Given the description of an element on the screen output the (x, y) to click on. 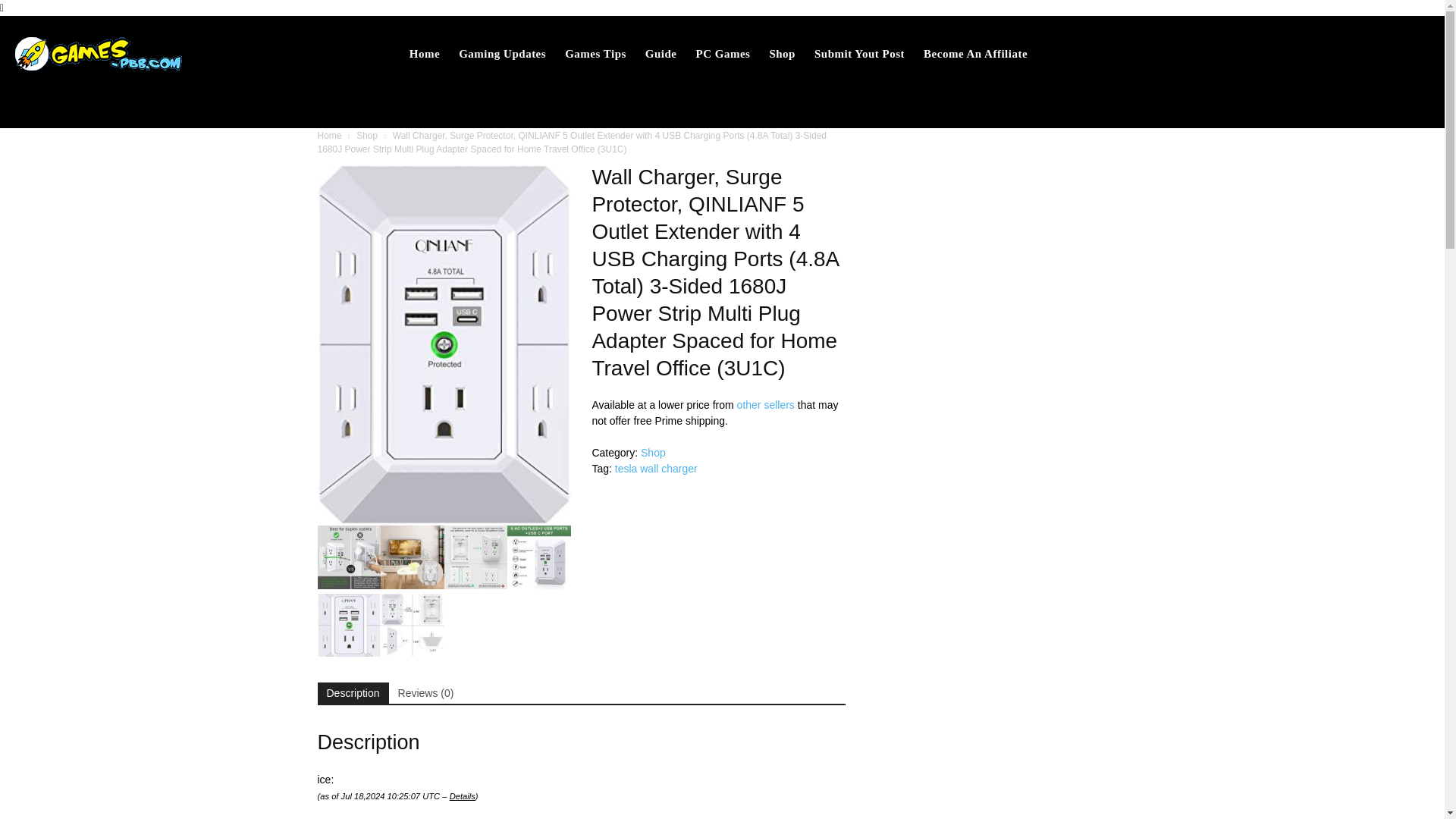
PC Games (723, 53)
B08R6S1M1K-1-1708930315330 (538, 556)
B08R6S1M1K-0-1708930315330 (443, 344)
Submit Yout Post (859, 53)
Shop (366, 135)
Home (328, 135)
Shop (782, 53)
Become An Affiliate (975, 53)
B08R6S1M1K-3-1708930315331 (412, 556)
B08R6S1M1K-6-1708930315331 (412, 625)
Guide (660, 53)
B08R6S1M1K-2-1708930315331 (476, 556)
B08R6S1M1K-0-1708930315330 (348, 625)
Home (423, 53)
B08R6S1M1K-4-1708930315331 (348, 556)
